Given the description of an element on the screen output the (x, y) to click on. 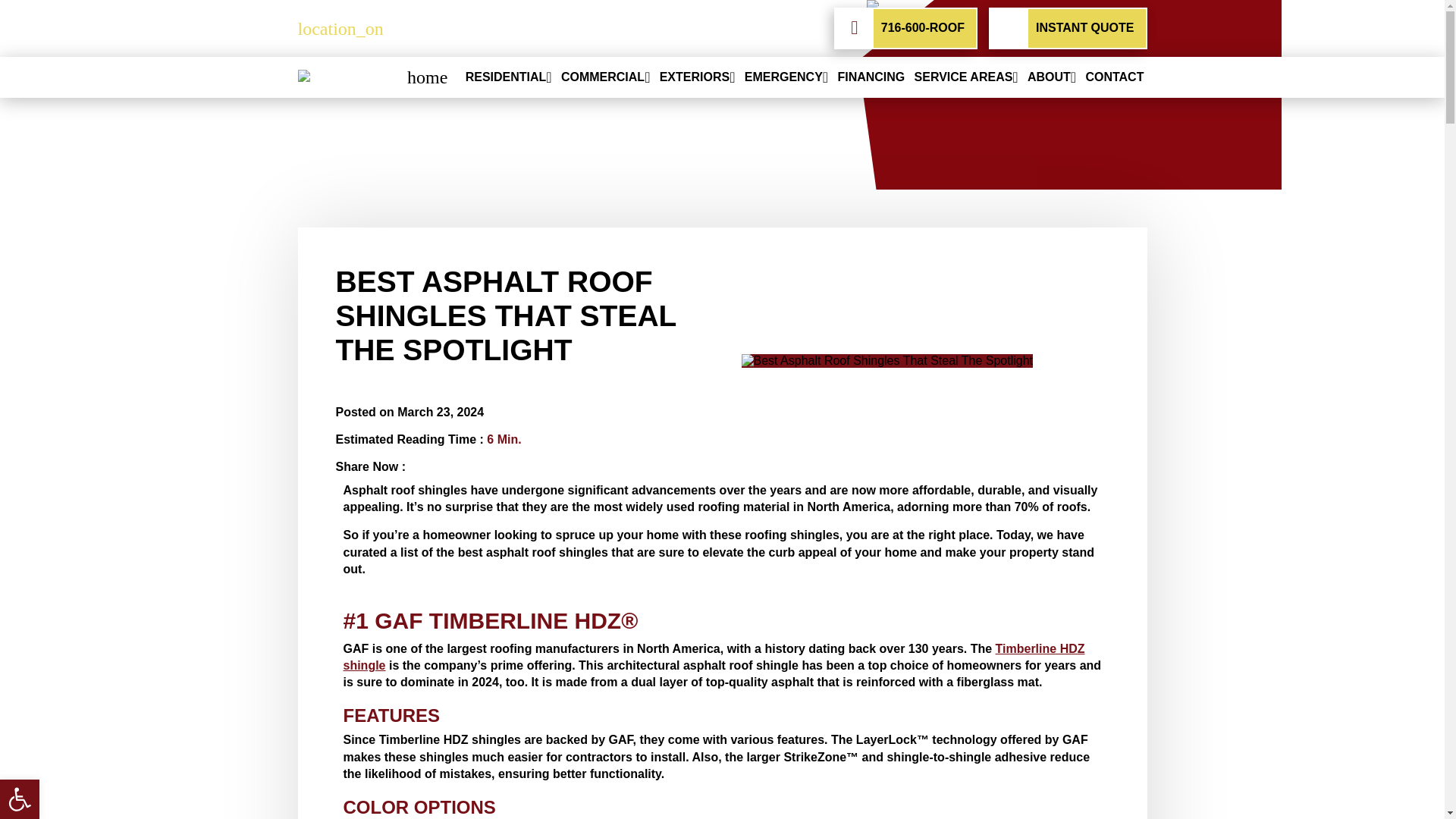
FINANCING (870, 76)
Accessibility Tools (19, 799)
RESIDENTIAL (506, 76)
EXTERIORS (694, 76)
INSTANT QUOTE (1067, 28)
home (426, 77)
SERVICE AREAS (963, 76)
Accessibility Tools (19, 799)
EMERGENCY (783, 76)
COMMERCIAL (602, 76)
